Given the description of an element on the screen output the (x, y) to click on. 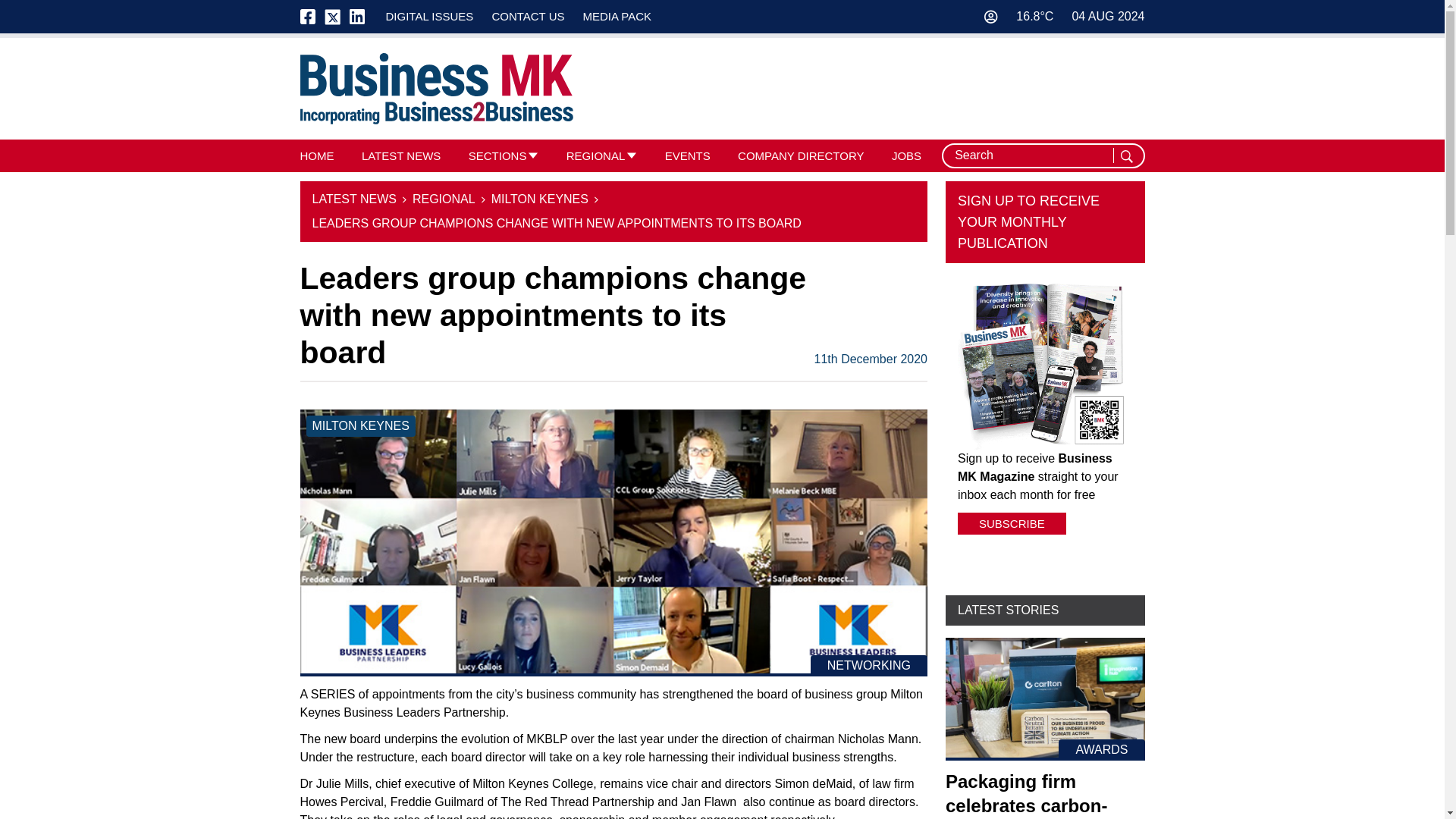
See all milton keynes (359, 425)
Go to the Milton Keynes Category archives. (540, 198)
DIGITAL ISSUES (429, 15)
Business MK on Twitter (332, 17)
See all networking (868, 665)
MEDIA PACK (616, 15)
CONTACT US (528, 15)
HOME (316, 155)
SECTIONS (497, 155)
Go to the Regional Category archives. (444, 198)
REGIONAL (596, 155)
Search (1128, 155)
Business MK on Facebook (311, 16)
Go to Latest News. (354, 198)
Home (436, 88)
